Given the description of an element on the screen output the (x, y) to click on. 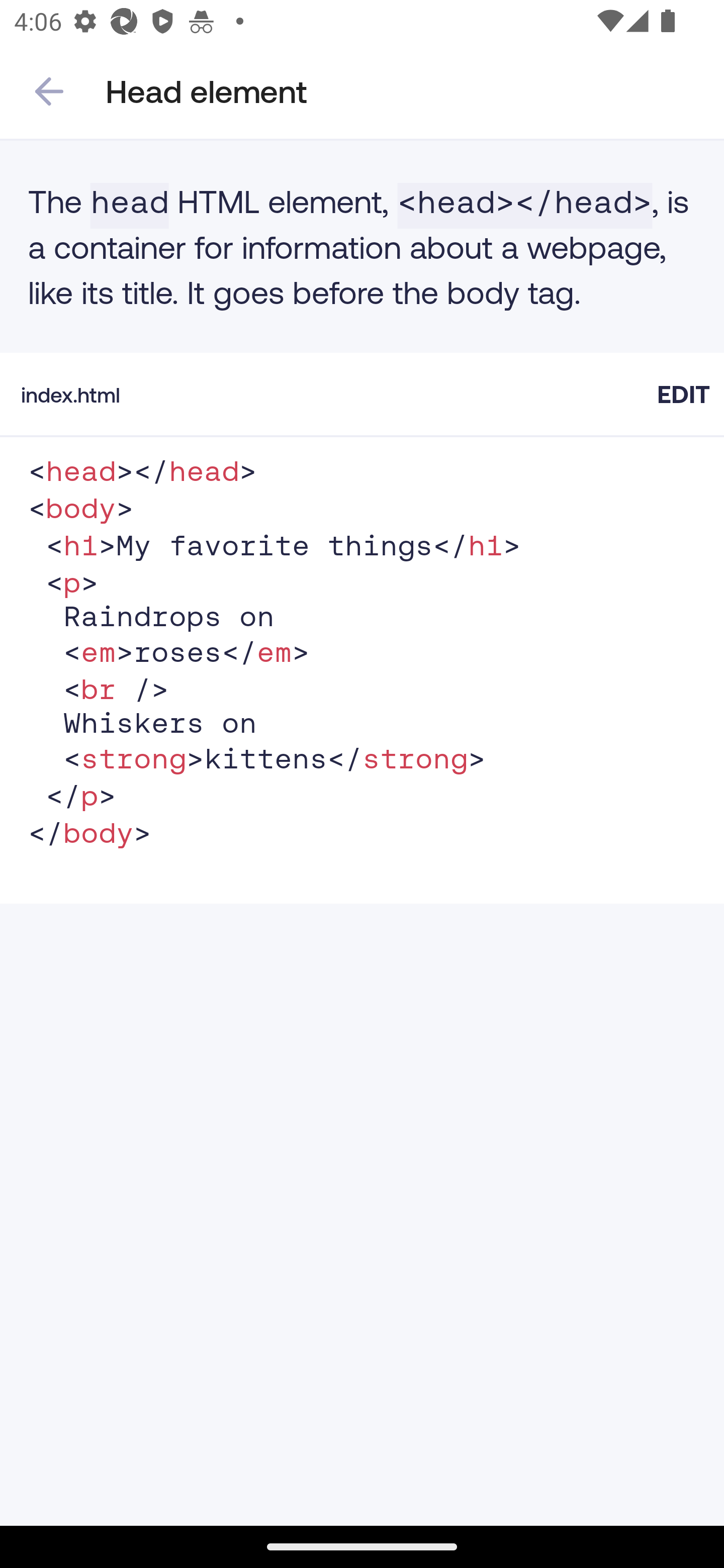
Navigate up (49, 91)
EDIT (683, 394)
